Given the description of an element on the screen output the (x, y) to click on. 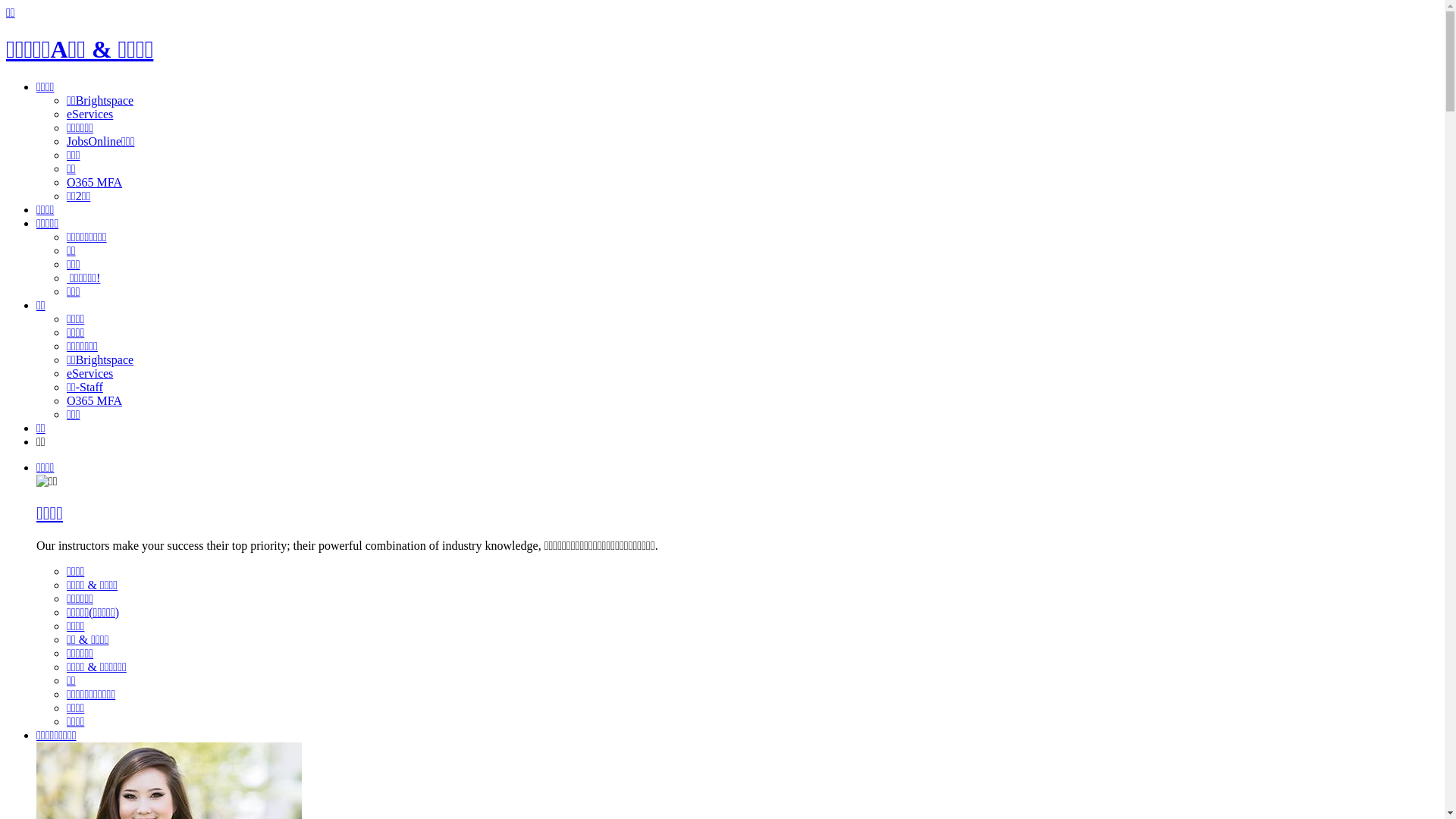
eServices Element type: text (89, 373)
O365 MFA Element type: text (94, 181)
O365 MFA Element type: text (94, 400)
eServices Element type: text (89, 113)
